Given the description of an element on the screen output the (x, y) to click on. 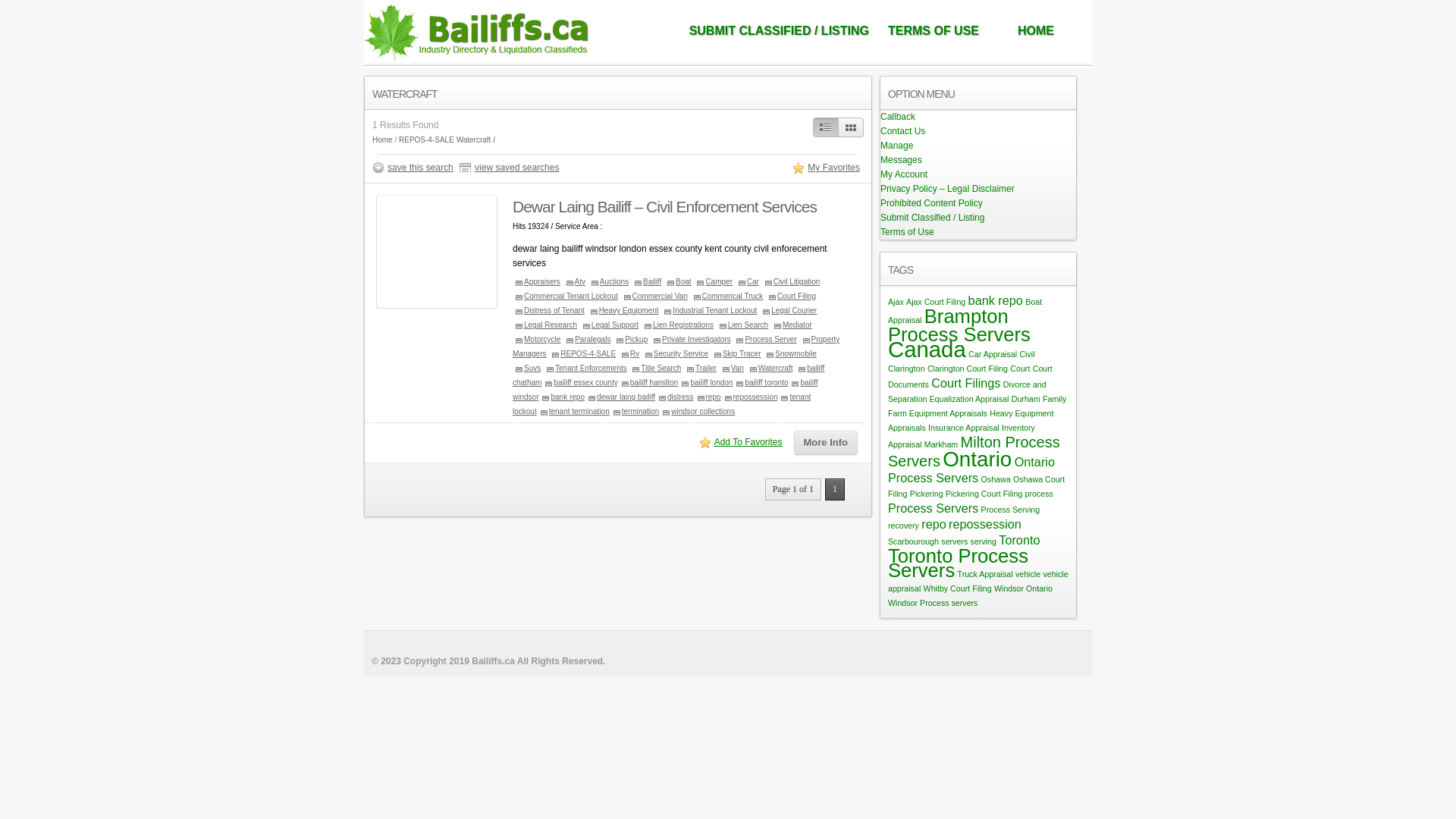
Camper Element type: text (712, 281)
My Favorites Element type: text (827, 167)
Messages Element type: text (901, 159)
More Info Element type: text (825, 442)
Add To Favorites Element type: text (742, 442)
Commercial Van Element type: text (654, 295)
Ajax Court Filing Element type: text (935, 301)
1 Element type: text (834, 489)
Ontario Element type: text (976, 458)
save this search Element type: text (414, 167)
Distress of Tenant Element type: text (548, 310)
Private Investigators Element type: text (690, 339)
Canada Element type: text (927, 348)
view saved searches Element type: text (510, 167)
Windsor Process servers Element type: text (932, 602)
tenant termination Element type: text (573, 411)
Watercraft Element type: text (769, 368)
Mediator Element type: text (791, 324)
Pickering Court Filing Element type: text (983, 493)
Motorcycle Element type: text (536, 339)
Insurance Appraisal Element type: text (963, 427)
Process Servers Element type: text (933, 507)
Title Search Element type: text (654, 368)
recovery Element type: text (903, 525)
Milton Process Servers Element type: text (974, 451)
Court Filings Element type: text (965, 382)
Car Appraisal Element type: text (992, 353)
Watercraft Element type: text (473, 139)
bank repo Element type: text (561, 396)
Industrial Tenant Lockout Element type: text (708, 310)
Prohibited Content Policy Element type: text (931, 202)
Ajax Element type: text (895, 301)
Auctions Element type: text (608, 281)
Family Element type: text (1054, 398)
vehicle appraisal Element type: text (978, 581)
REPOS-4-SALE Element type: text (426, 139)
Lien Registrations Element type: text (677, 324)
Court Filing Element type: text (790, 295)
Ontario Process Servers Element type: text (971, 469)
Process Serving Element type: text (1010, 509)
Van Element type: text (731, 368)
bailiff windsor Element type: text (665, 389)
Skip Tracer Element type: text (736, 353)
Court Element type: text (1019, 368)
Boat Element type: text (677, 281)
bailiff toronto Element type: text (760, 382)
Property Managers Element type: text (675, 346)
Oshawa Element type: text (995, 478)
Toronto Element type: text (1018, 539)
Tenant Enforcements Element type: text (585, 368)
Heavy Equipment Appraisals Element type: text (970, 420)
dewar laing bailiff Element type: text (620, 396)
distress Element type: text (674, 396)
Clarington Element type: text (906, 368)
TERMS OF USE Element type: text (933, 31)
Commerical Truck Element type: text (726, 295)
repossession Element type: text (749, 396)
Terms of Use Element type: text (907, 231)
serving Element type: text (983, 541)
HOME Element type: text (1035, 31)
Legal Support Element type: text (609, 324)
bailiff chatham Element type: text (668, 375)
Scarbourough Element type: text (913, 541)
bailiff essex county Element type: text (579, 382)
bank repo Element type: text (995, 300)
Windsor Ontario Element type: text (1023, 588)
Bailiff Element type: text (646, 281)
bailiff london Element type: text (705, 382)
Inventory Appraisal Element type: text (961, 435)
Court Documents Element type: text (970, 376)
termination Element type: text (634, 411)
Pickering Element type: text (926, 493)
Submit Classified / Listing Element type: text (932, 217)
tenant lockout Element type: text (661, 403)
Markham Element type: text (940, 443)
Snowmobile Element type: text (789, 353)
Page 1 of 1 Element type: text (793, 489)
Civil Element type: text (1026, 353)
Civil Litigation Element type: text (791, 281)
bailiff hamilton Element type: text (648, 382)
Durham Element type: text (1025, 398)
Appraisers Element type: text (536, 281)
Whitby Court Filing Element type: text (957, 588)
Brampton Process Servers Element type: text (959, 325)
Toronto Process Servers Element type: text (958, 562)
servers Element type: text (954, 541)
Pickup Element type: text (630, 339)
Paralegals Element type: text (586, 339)
repo Element type: text (707, 396)
Commercial Tenant Lockout Element type: text (565, 295)
windsor collections Element type: text (696, 411)
Manage Element type: text (896, 145)
Rv Element type: text (628, 353)
repossession Element type: text (984, 523)
REPOS-4-SALE Element type: text (582, 353)
SUBMIT CLASSIFIED / LISTING Element type: text (779, 31)
vehicle Element type: text (1027, 573)
My Account Element type: text (903, 174)
Legal Courier Element type: text (787, 310)
Truck Appraisal Element type: text (985, 573)
Contact Us Element type: text (902, 130)
Divorce and Separation Equalization Appraisal Element type: text (967, 391)
Boat Appraisal Element type: text (964, 310)
Heavy Equipment Element type: text (622, 310)
process Element type: text (1039, 493)
Lien Search Element type: text (742, 324)
Legal Research Element type: text (544, 324)
Security Service Element type: text (675, 353)
Callback Element type: text (897, 116)
Atv Element type: text (574, 281)
Oshawa Court Filing Element type: text (976, 486)
Home Element type: text (382, 139)
Trailer Element type: text (700, 368)
Process Server Element type: text (764, 339)
Clarington Court Filing Element type: text (967, 368)
Suvs Element type: text (526, 368)
repo Element type: text (933, 523)
Farm Equipment Appraisals Element type: text (937, 412)
Car Element type: text (747, 281)
